Given the description of an element on the screen output the (x, y) to click on. 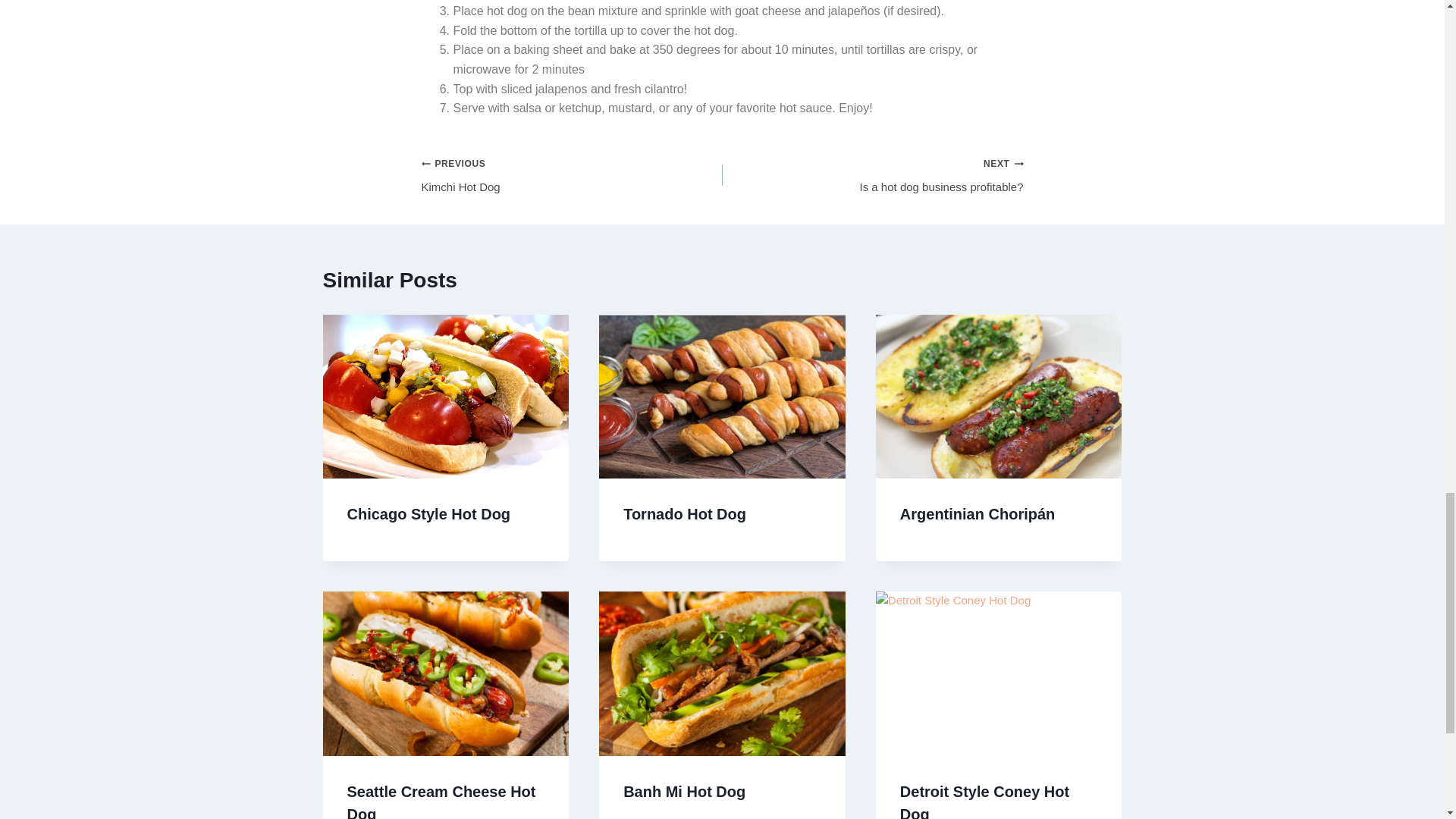
Detroit Style Coney Hot Dog (983, 800)
Banh Mi Hot Dog (684, 791)
Tornado Hot Dog (572, 174)
Seattle Cream Cheese Hot Dog (872, 174)
Chicago Style Hot Dog (684, 514)
